Given the description of an element on the screen output the (x, y) to click on. 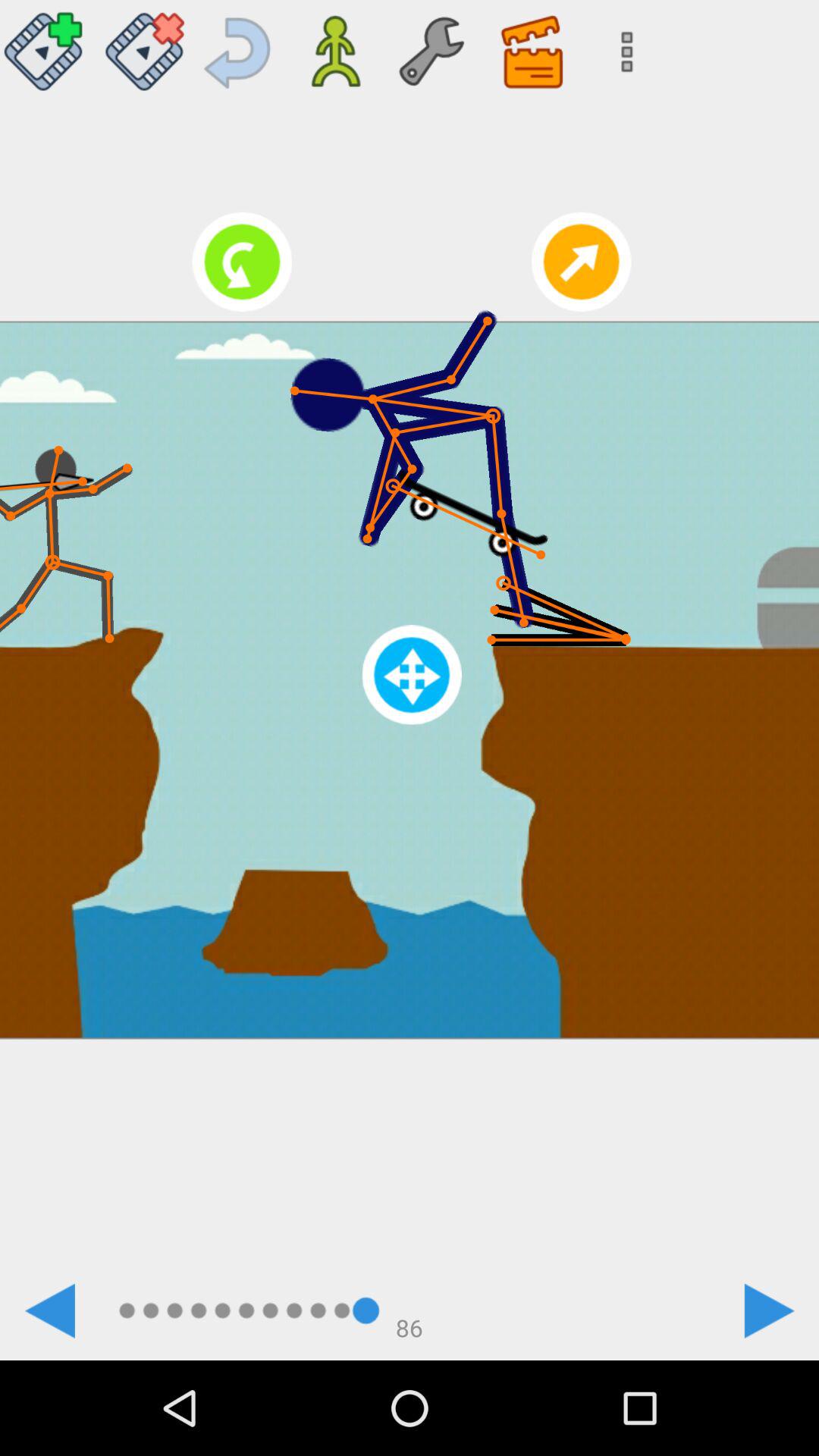
tap icon at the top right corner (621, 45)
